Given the description of an element on the screen output the (x, y) to click on. 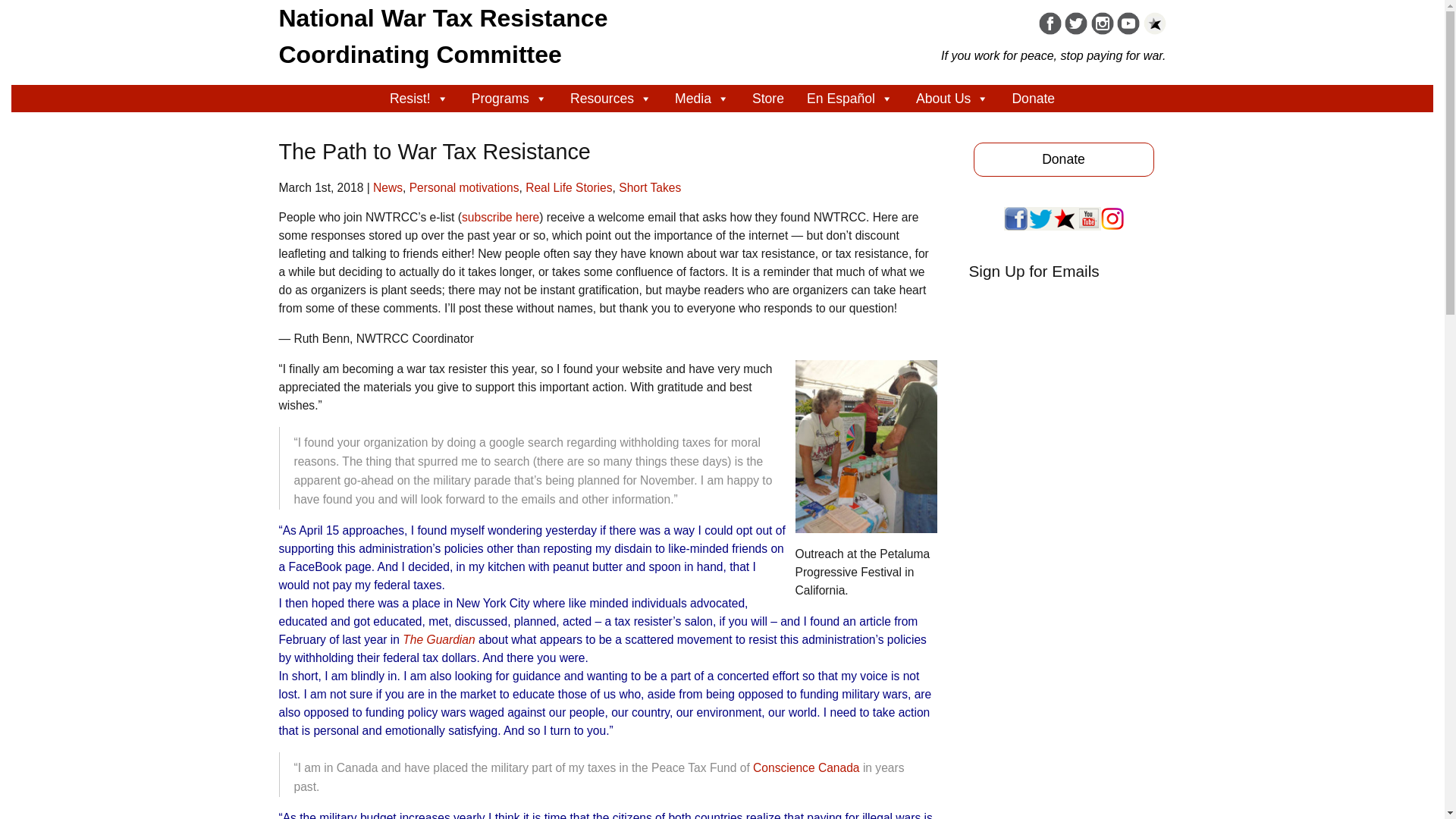
Media (702, 98)
War Tax Resistance Resources (611, 98)
Resources (611, 98)
Home (443, 33)
The War Tax Resistance Store (767, 98)
Resist! (419, 98)
Programs (509, 98)
About NWTRCC (443, 33)
